Given the description of an element on the screen output the (x, y) to click on. 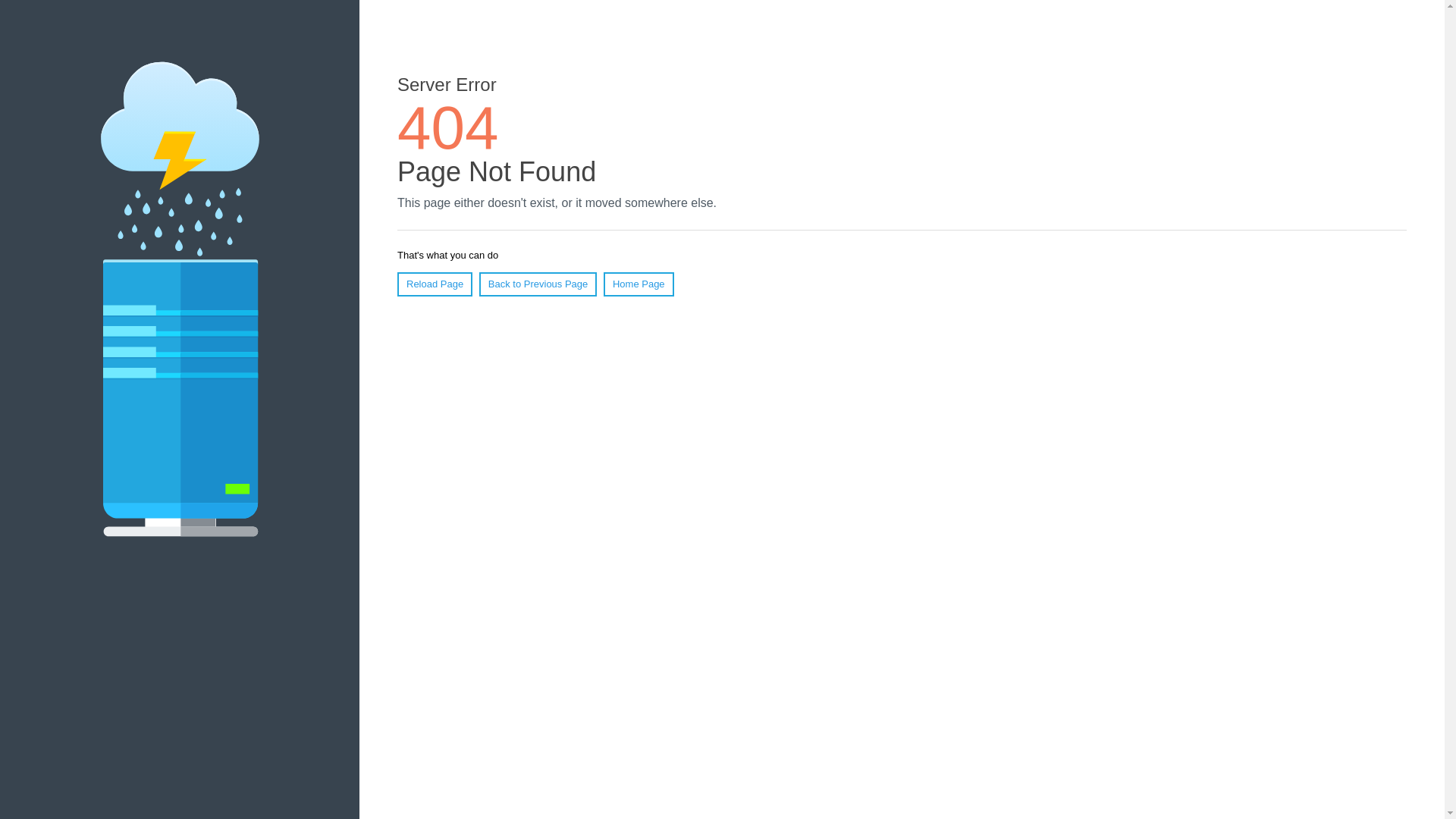
Home Page Element type: text (638, 284)
Back to Previous Page Element type: text (538, 284)
Reload Page Element type: text (434, 284)
